Given the description of an element on the screen output the (x, y) to click on. 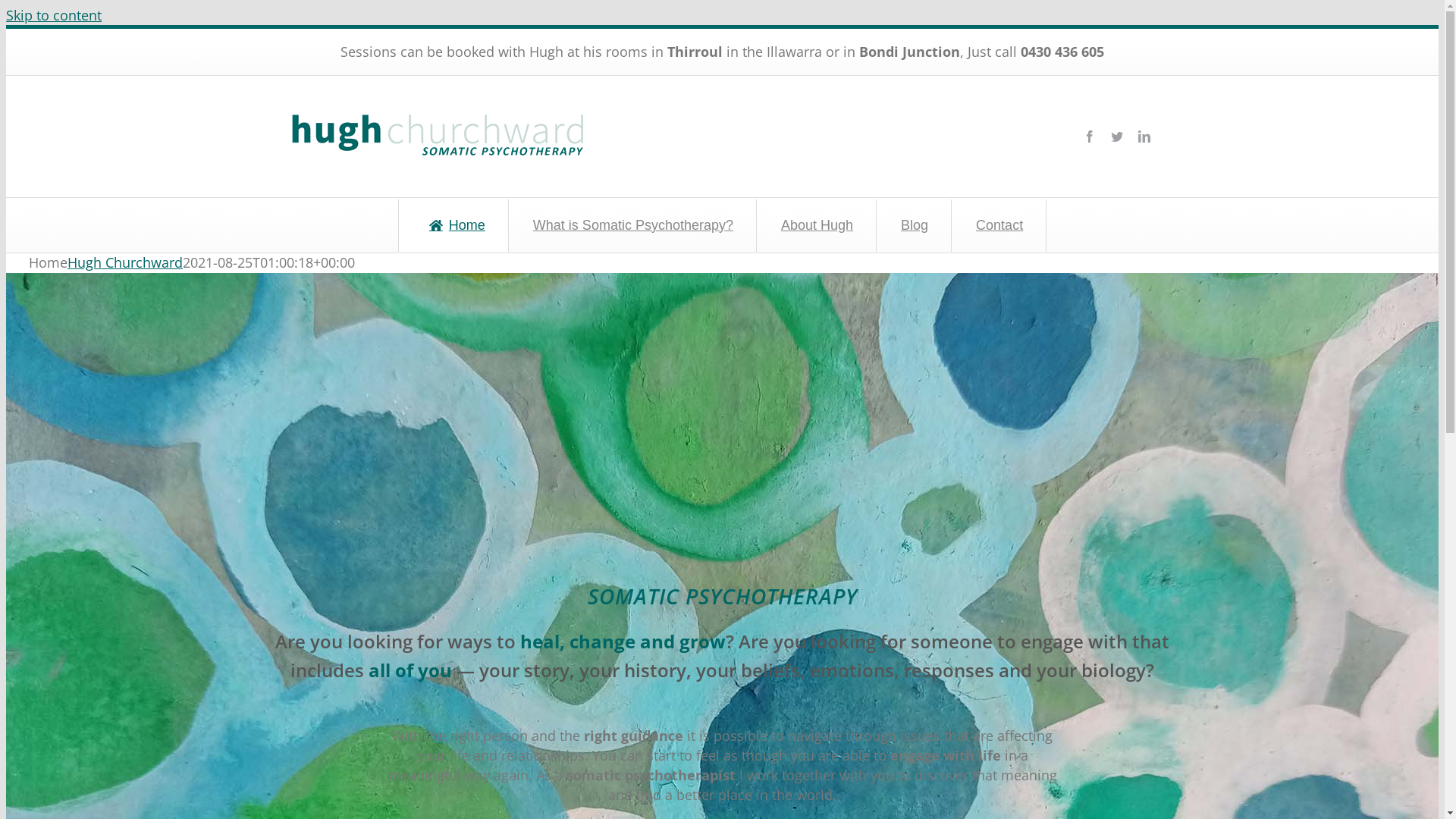
Contact Element type: text (997, 225)
Home Element type: text (453, 225)
Skip to content Element type: text (53, 15)
Facebook Element type: hover (1088, 136)
LinkedIn Element type: hover (1143, 136)
About Hugh Element type: text (815, 225)
What is Somatic Psychotherapy? Element type: text (632, 225)
Blog Element type: text (912, 225)
Twitter Element type: hover (1116, 136)
Hugh Churchward Element type: text (124, 262)
